Given the description of an element on the screen output the (x, y) to click on. 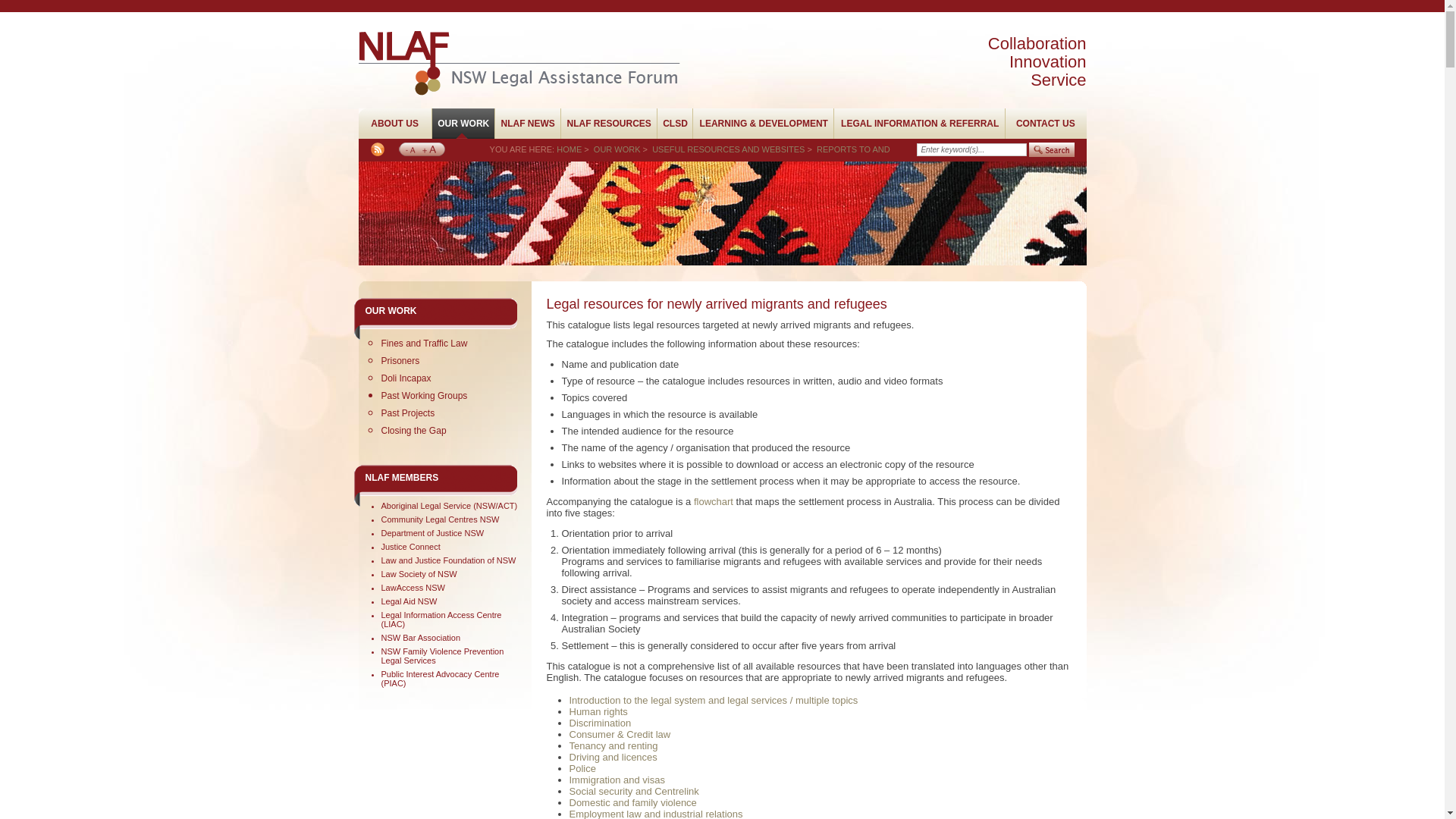
Justice Connect Element type: text (409, 546)
Past Working Groups Element type: text (423, 395)
Fines and Traffic Law Element type: text (423, 343)
CLSD Element type: text (674, 123)
Return to the Homepage Element type: hover (518, 88)
Domestic and family violence Element type: text (632, 802)
LawAccess NSW Element type: text (412, 587)
NLAF NEWS Element type: text (527, 123)
Doli Incapax Element type: text (405, 378)
USEFUL RESOURCES AND WEBSITES Element type: text (728, 148)
Social security and Centrelink Element type: text (633, 791)
Immigration and visas Element type: text (616, 779)
flowchart Element type: text (713, 501)
Human rights Element type: text (597, 711)
NSW Family Violence Prevention Legal Services Element type: text (441, 655)
Department of Justice NSW Element type: text (431, 532)
Law Society of NSW Element type: text (418, 573)
Police Element type: text (581, 768)
Past Projects Element type: text (407, 412)
LEGAL INFORMATION & REFERRAL Element type: text (919, 123)
Consumer & Credit law Element type: text (619, 734)
CONTACT US Element type: text (1045, 123)
Closing the Gap Element type: text (412, 430)
Law and Justice Foundation of NSW Element type: text (447, 559)
LEARNING & DEVELOPMENT Element type: text (763, 123)
NSW Bar Association Element type: text (420, 637)
Discrimination Element type: text (599, 722)
Driving and licences Element type: text (612, 756)
ABOUT US Element type: text (393, 123)
Site search Element type: hover (971, 149)
Legal Aid NSW Element type: text (408, 600)
HOME Element type: text (568, 148)
Prisoners Element type: text (399, 360)
NLAF RESOURCES Element type: text (608, 123)
Community Legal Centres NSW Element type: text (439, 519)
Legal Information Access Centre (LIAC) Element type: text (440, 619)
Public Interest Advocacy Centre (PIAC) Element type: text (439, 678)
Tenancy and renting Element type: text (612, 745)
Aboriginal Legal Service (NSW/ACT) Element type: text (448, 505)
OUR WORK Element type: text (616, 148)
OUR WORK Element type: text (463, 123)
OUR WORK Element type: text (391, 310)
REPORTS TO AND FROM NLAF Element type: text (689, 159)
